Given the description of an element on the screen output the (x, y) to click on. 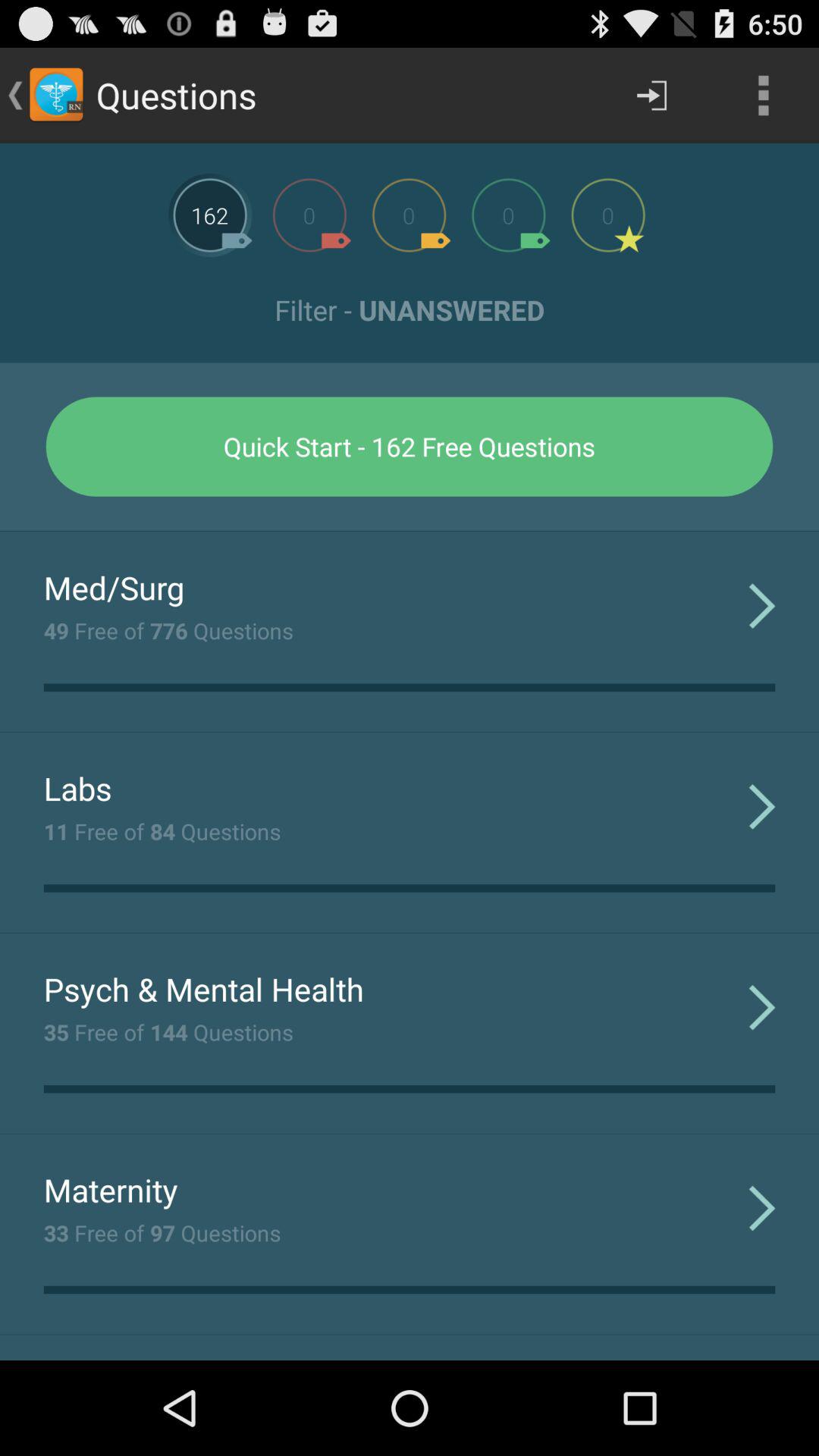
tap the icon next to the psych & mental health app (762, 1006)
